Given the description of an element on the screen output the (x, y) to click on. 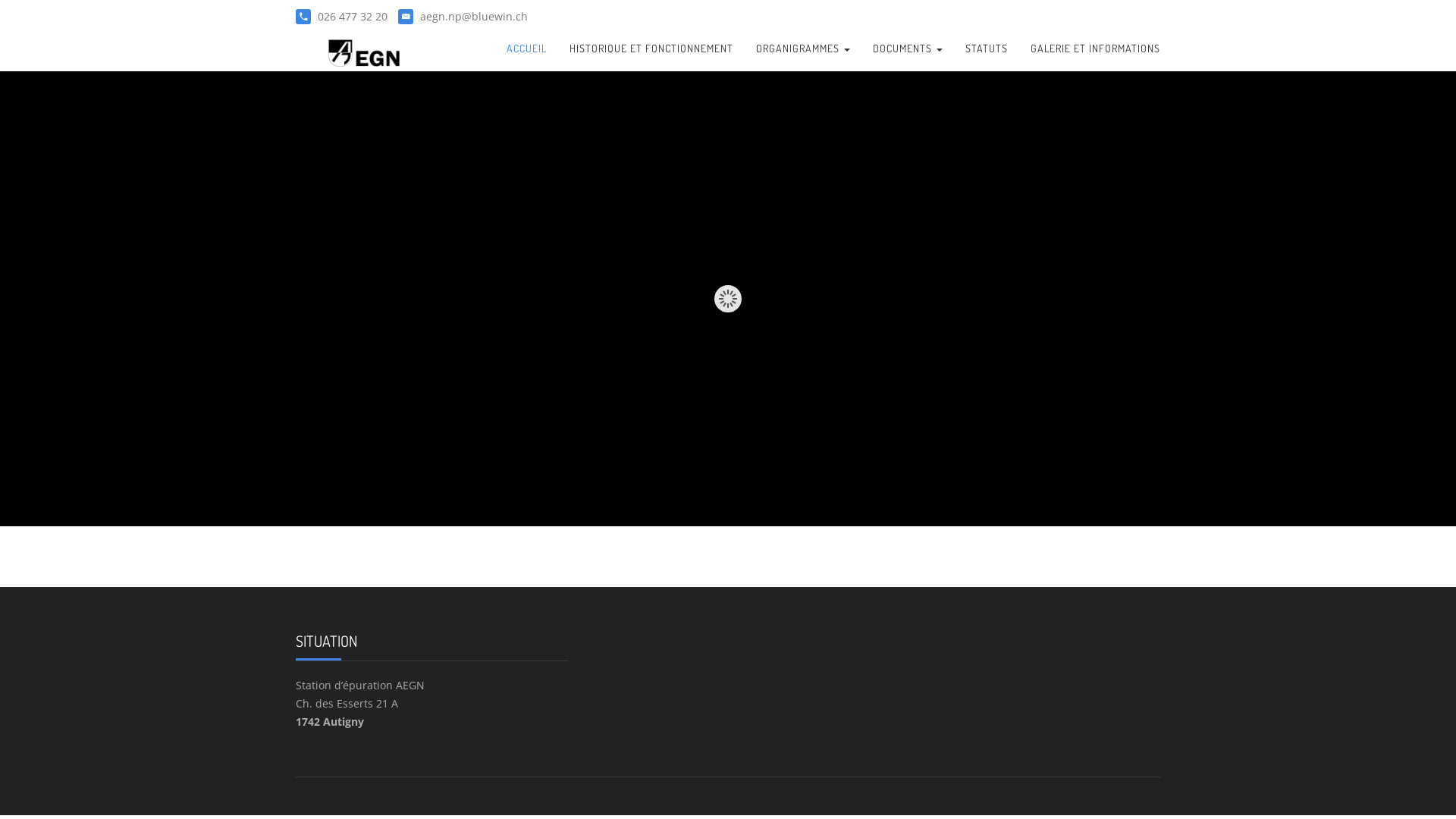
ACCUEIL Element type: text (526, 48)
ORGANIGRAMMES Element type: text (802, 48)
GALERIE ET INFORMATIONS Element type: text (1095, 48)
HISTORIQUE ET FONCTIONNEMENT Element type: text (651, 48)
STATUTS Element type: text (986, 48)
DOCUMENTS Element type: text (907, 48)
